Given the description of an element on the screen output the (x, y) to click on. 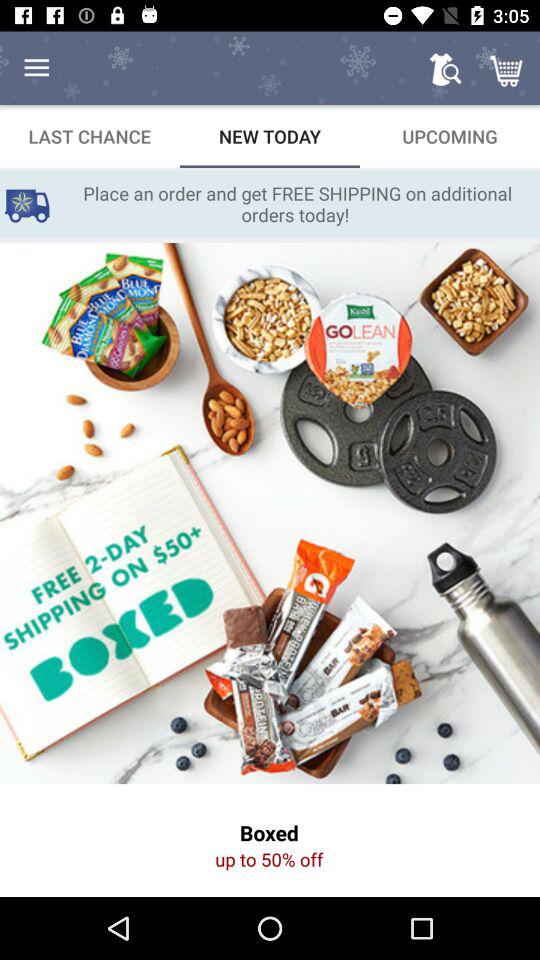
click the symbol which is in the color of blue (26, 203)
go to search icon (445, 68)
select the cart icon (508, 68)
